Given the description of an element on the screen output the (x, y) to click on. 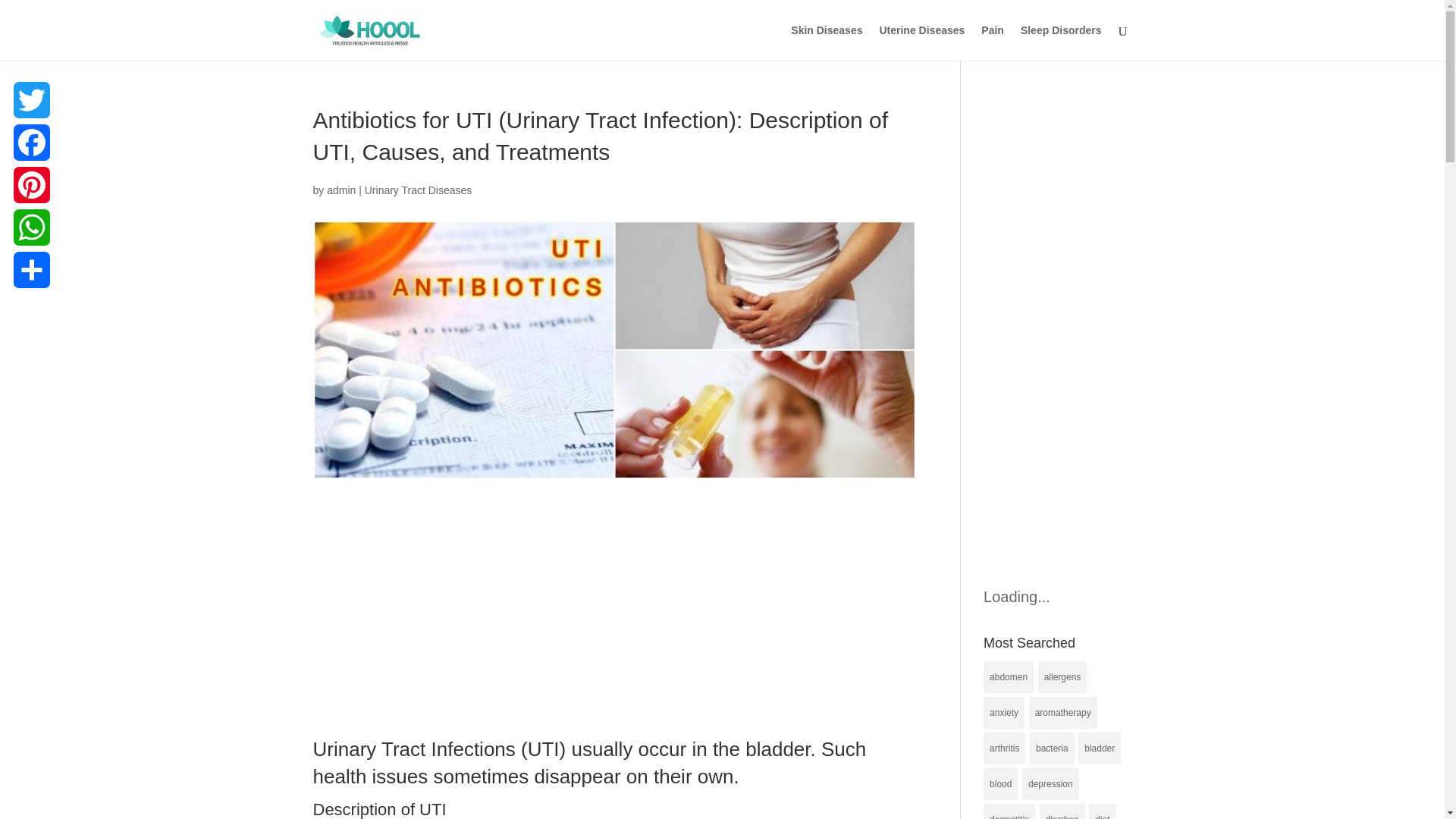
dermatitis (1009, 811)
diarrhea (1061, 811)
admin (340, 190)
WhatsApp (31, 227)
abdomen (1008, 676)
Sleep Disorders (1061, 42)
bladder (1099, 748)
Pinterest (31, 184)
Facebook (31, 142)
anxiety (1004, 712)
Advertisement (614, 622)
allergens (1062, 676)
bacteria (1051, 748)
Urinary Tract Diseases (418, 190)
Twitter (31, 99)
